Given the description of an element on the screen output the (x, y) to click on. 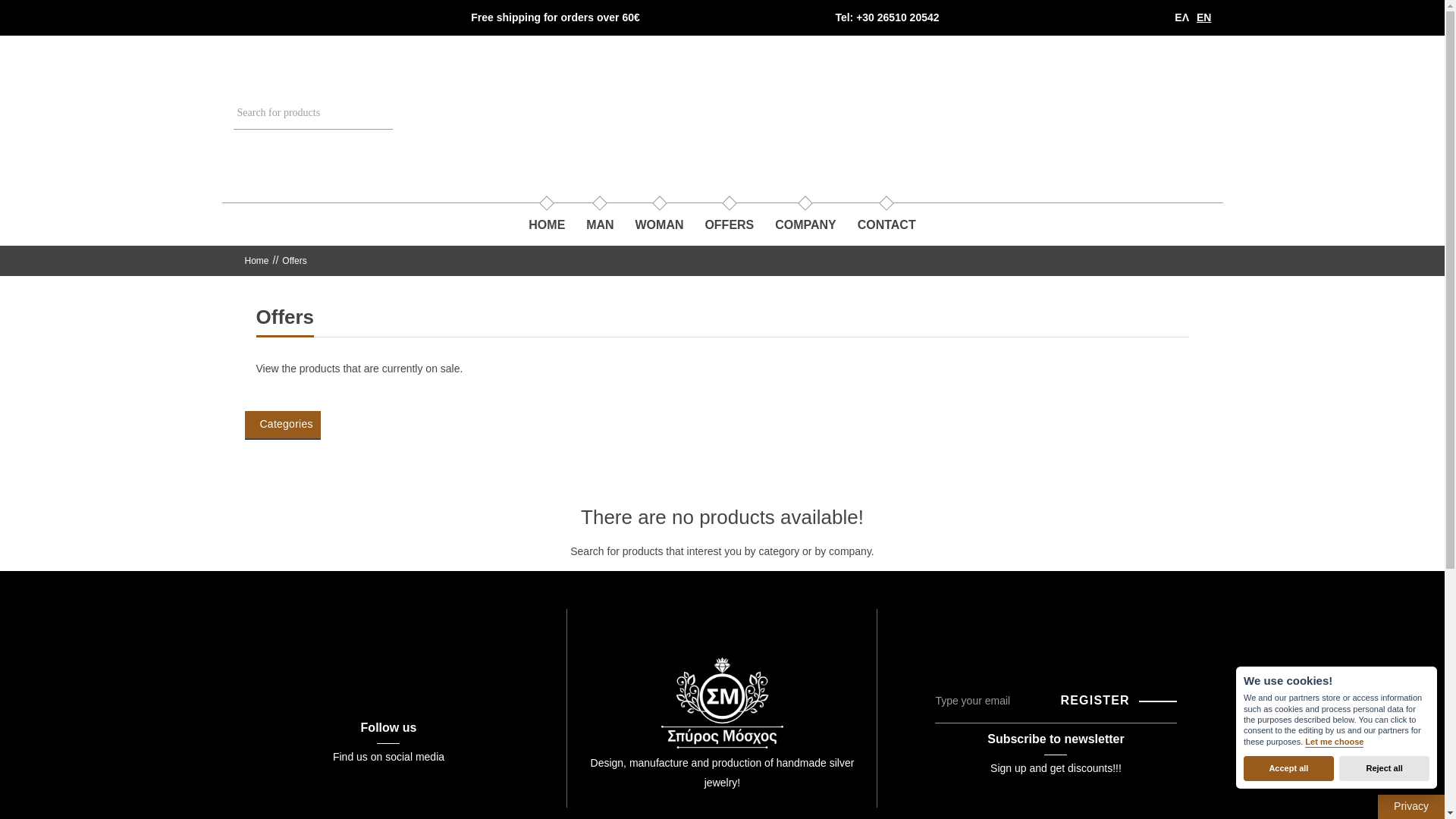
HOME (546, 224)
WOMAN (659, 224)
Follow us on Instagram (276, 13)
Join us on Facebook (246, 13)
Woman (659, 224)
